Given the description of an element on the screen output the (x, y) to click on. 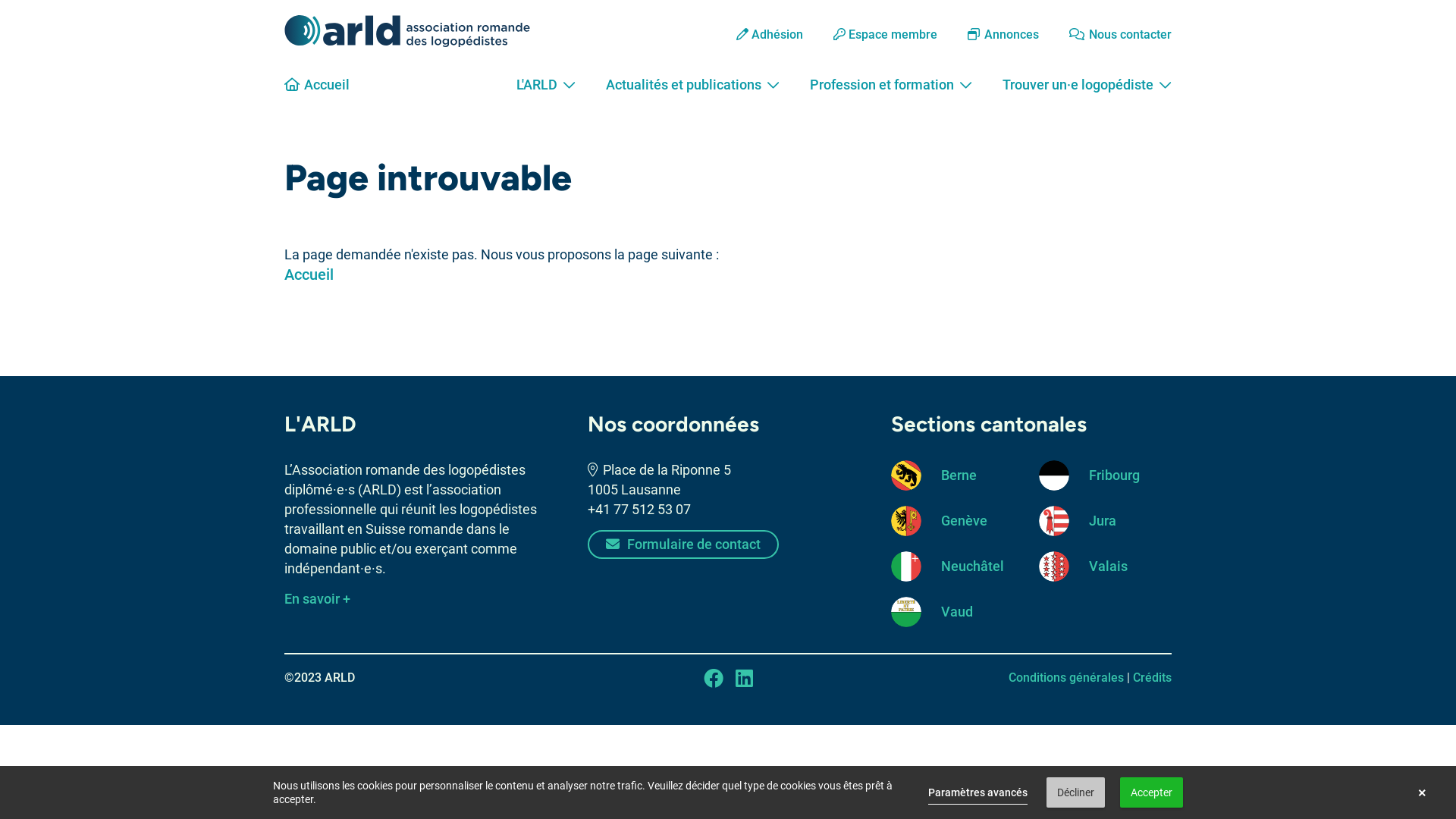
Fribourg Element type: text (1104, 475)
Espace membre Element type: text (871, 34)
En savoir + Element type: text (317, 598)
Lien compte facebook Element type: text (713, 677)
Formulaire de contact Element type: text (682, 544)
L'ARLD Element type: text (545, 90)
Jura Element type: text (1104, 520)
Berne Element type: text (957, 475)
Nous contacter Element type: text (1106, 34)
Lien compte linkedin Element type: text (744, 677)
Profession et formation Element type: text (890, 90)
Valais Element type: text (1104, 566)
Annonces Element type: text (989, 34)
Accueil Element type: text (316, 84)
Accepter Element type: text (1151, 792)
Vaud Element type: text (957, 611)
Accueil Element type: text (308, 274)
